Given the description of an element on the screen output the (x, y) to click on. 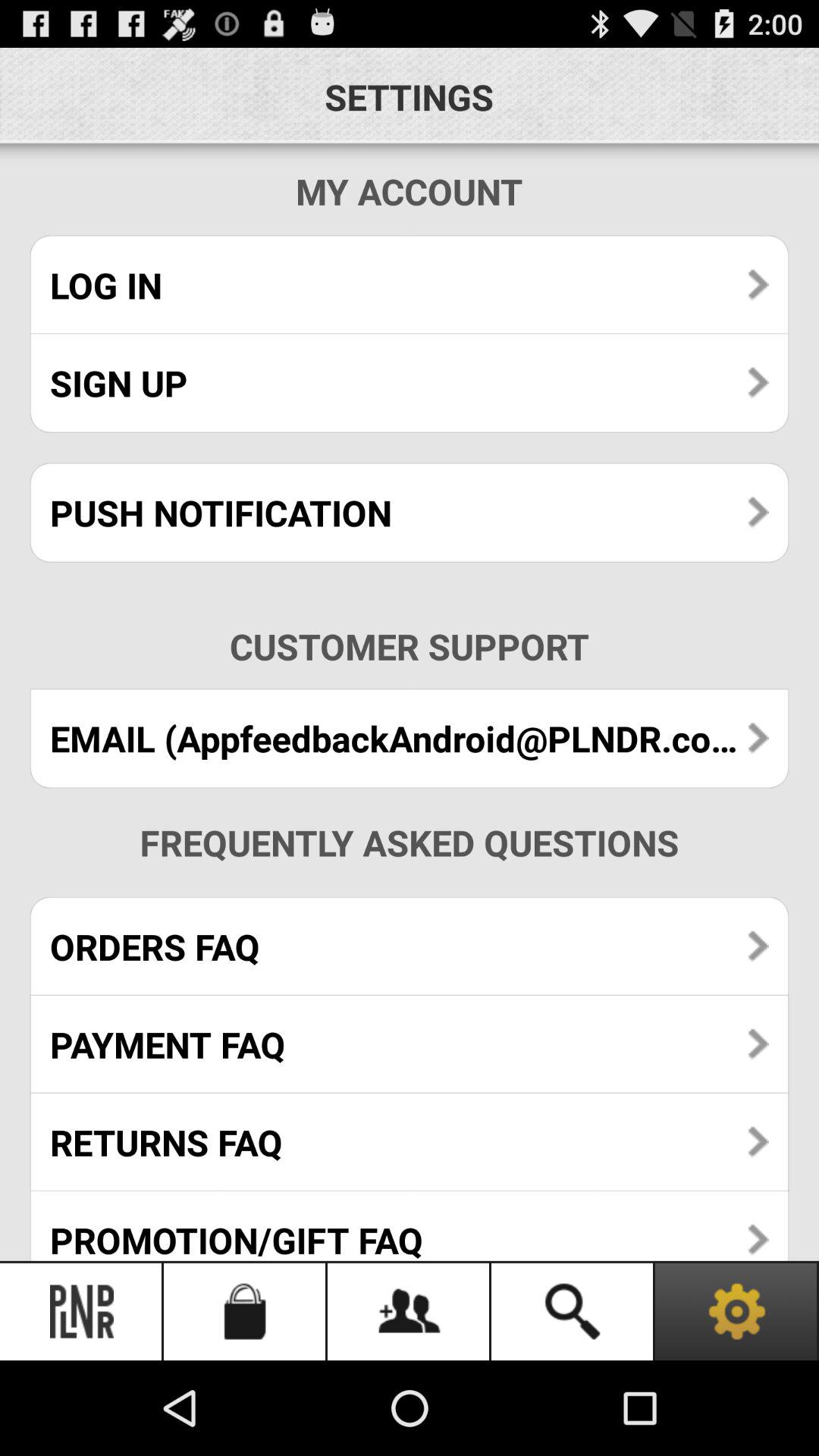
launch returns faq item (409, 1142)
